Given the description of an element on the screen output the (x, y) to click on. 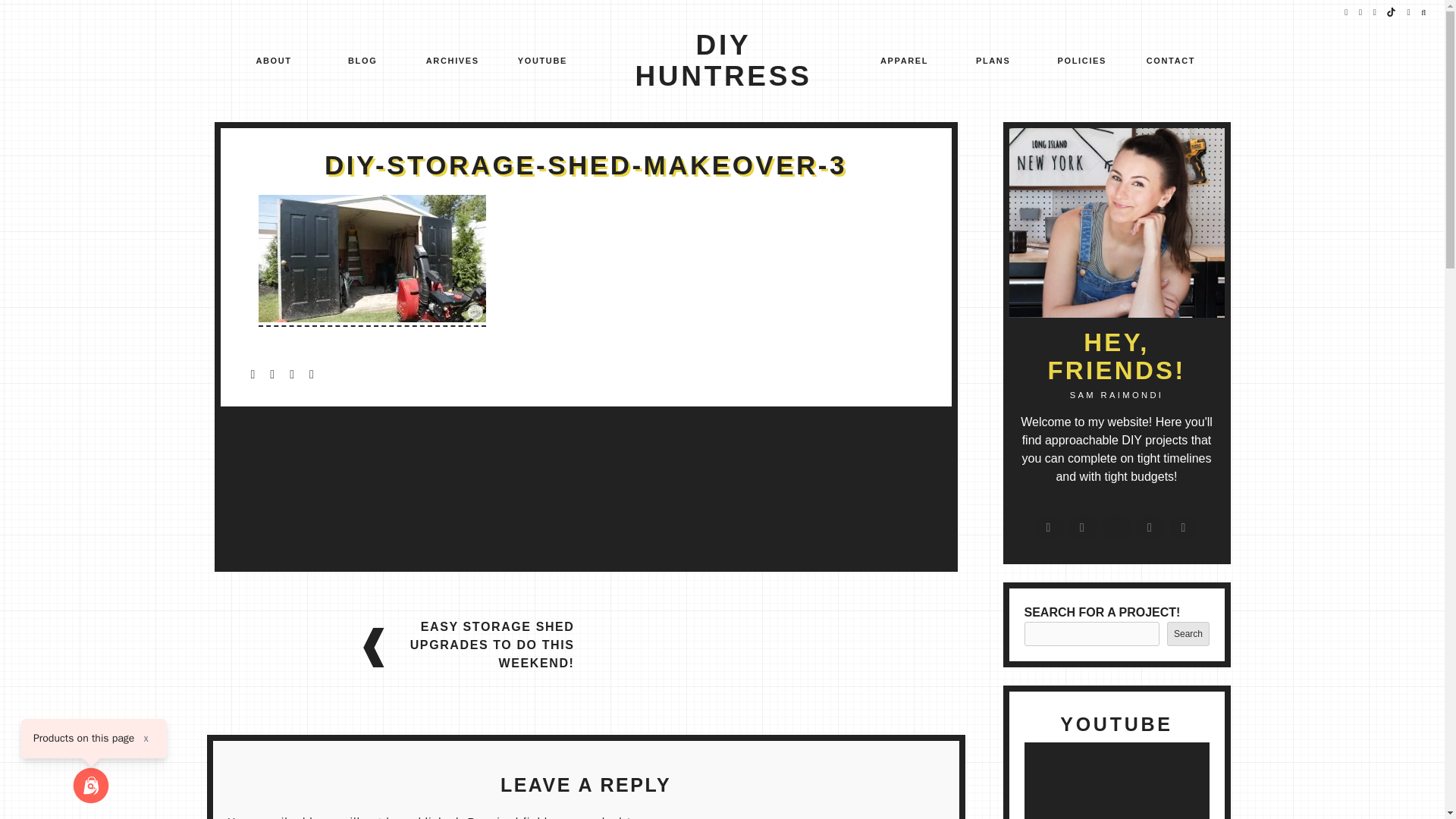
DIY HUNTRESS (723, 60)
YOUTUBE (542, 62)
BLOG (362, 62)
APPAREL (904, 62)
POLICIES (1082, 62)
ABOUT (273, 62)
tiktok icon (1391, 12)
PLANS (992, 62)
ARCHIVES (452, 62)
CONTACT (1171, 62)
EASY STORAGE SHED UPGRADES TO DO THIS WEEKEND! (483, 645)
